Given the description of an element on the screen output the (x, y) to click on. 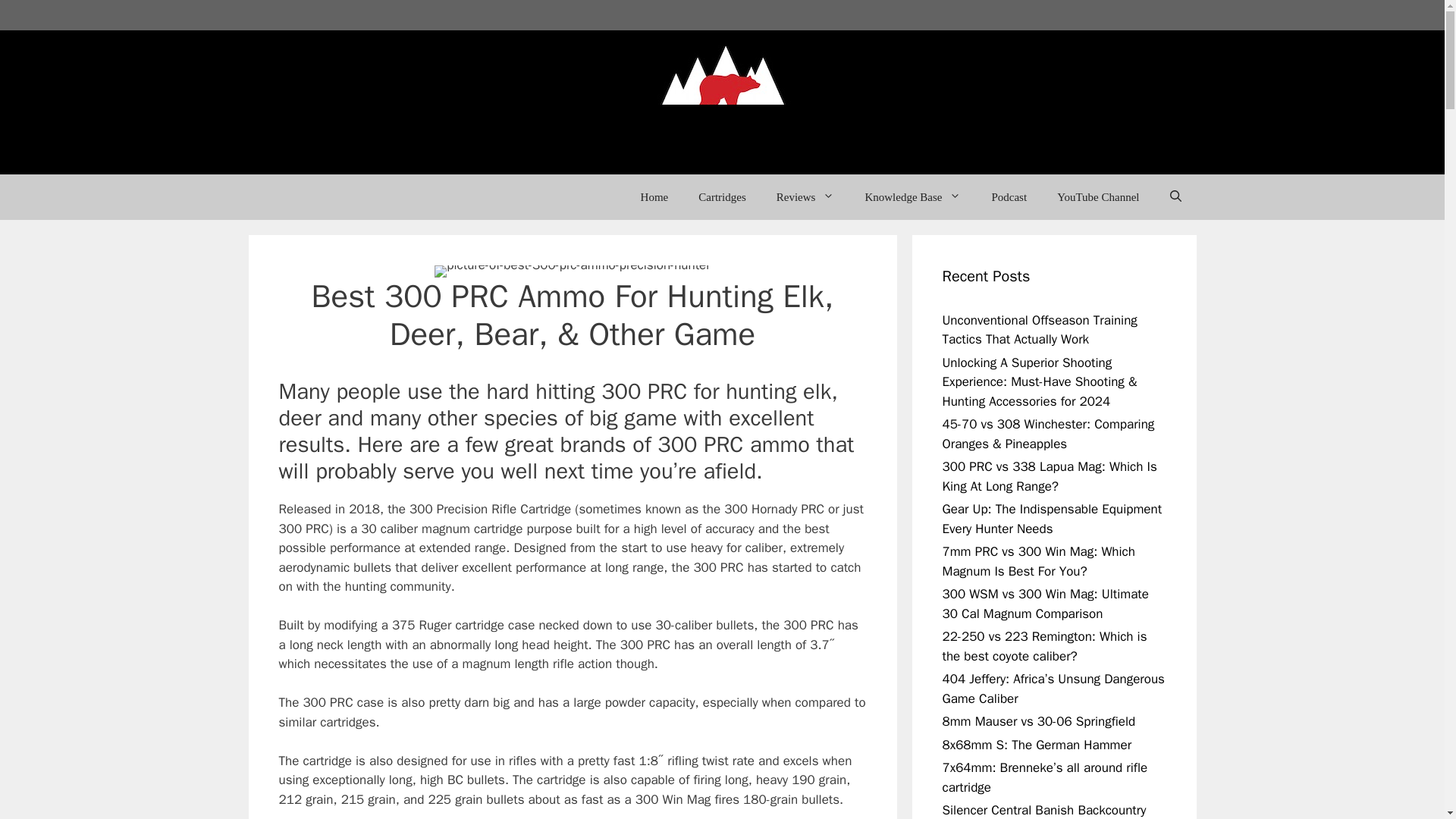
Podcast (1008, 197)
YouTube Channel (1098, 197)
Cartridges (721, 197)
Reviews (805, 197)
Home (655, 197)
Knowledge Base (911, 197)
